Given the description of an element on the screen output the (x, y) to click on. 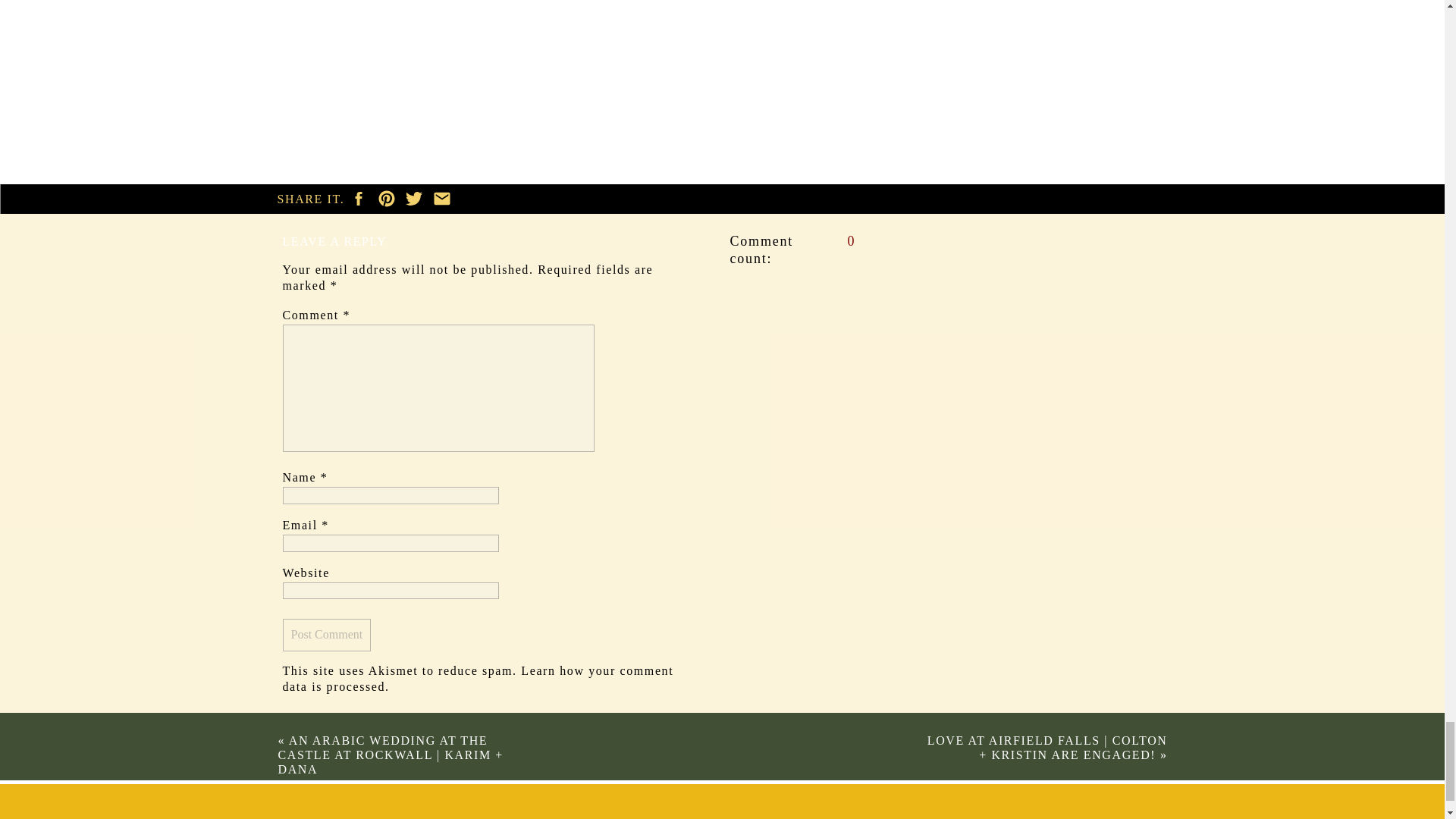
Learn how your comment data is processed (477, 678)
Post Comment (326, 635)
Post Comment (326, 635)
